Given the description of an element on the screen output the (x, y) to click on. 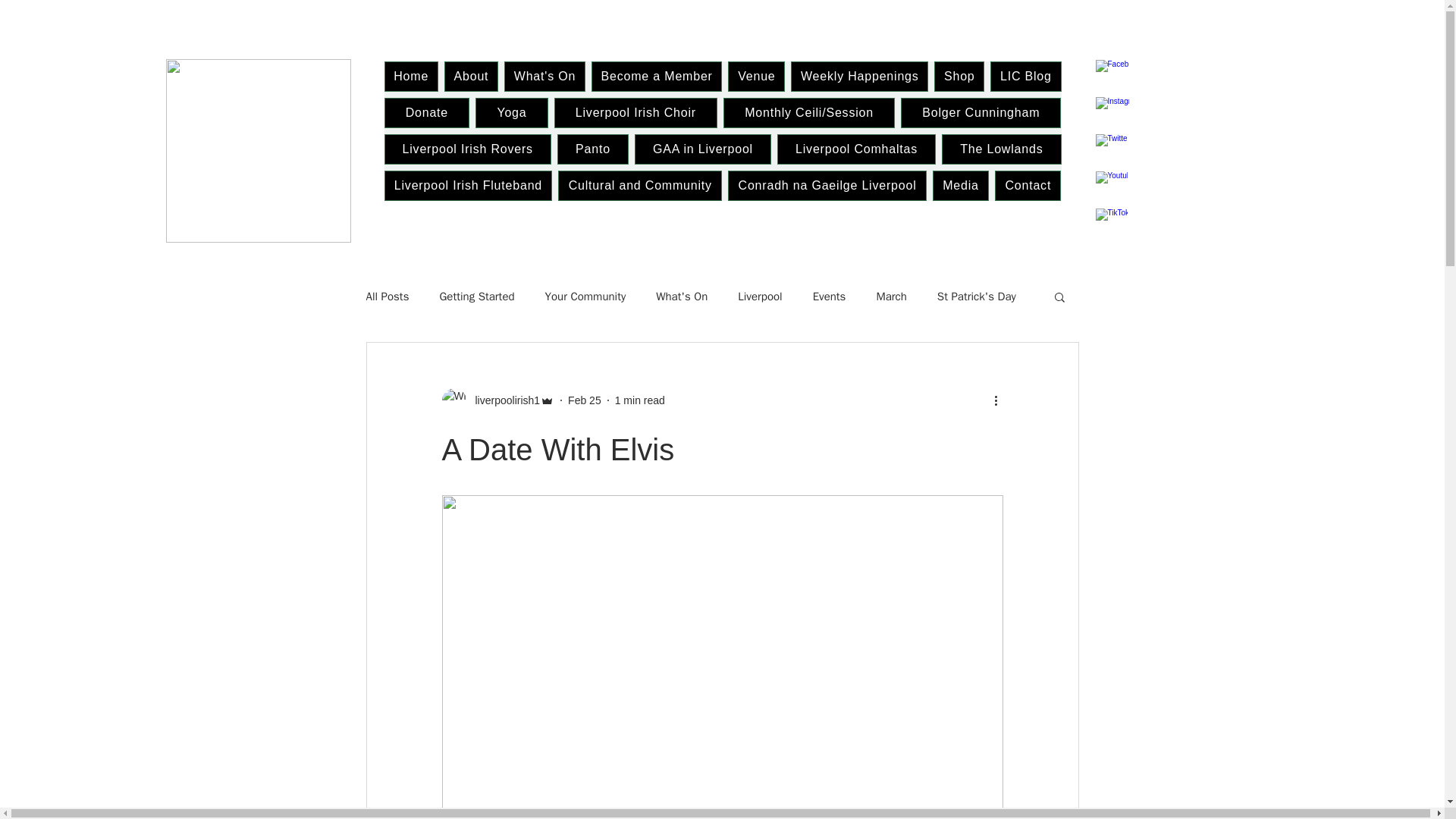
Yoga (511, 112)
About (470, 76)
All Posts (387, 296)
March (890, 296)
Feb 25 (584, 399)
St Patrick's Day (976, 296)
Shop (959, 76)
Getting Started (476, 296)
Media (960, 185)
Events (828, 296)
1 min read (639, 399)
Venue (756, 76)
Donate (426, 112)
Become a Member (656, 76)
Cultural and Community (639, 185)
